Given the description of an element on the screen output the (x, y) to click on. 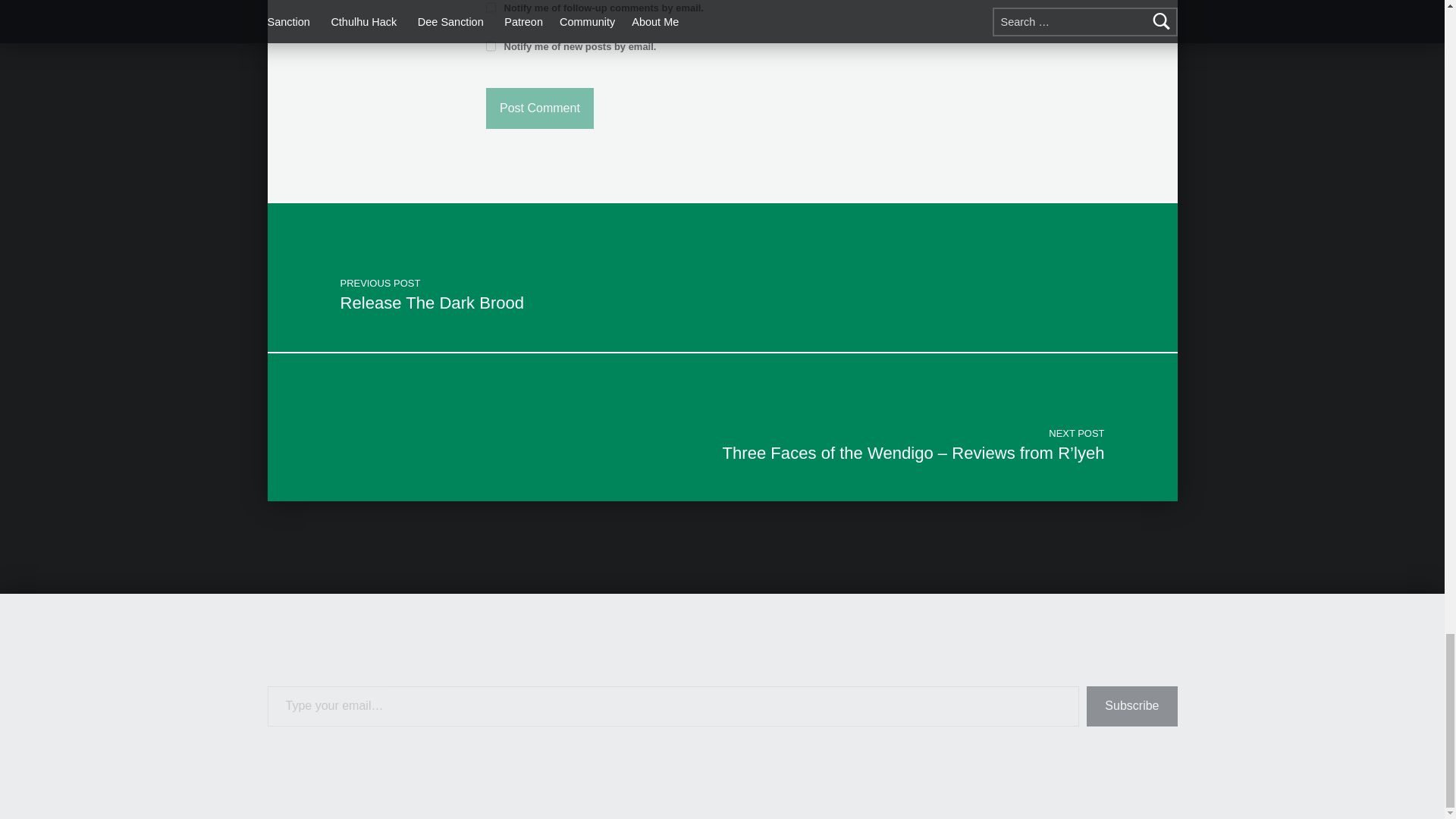
Post Comment (540, 107)
